Given the description of an element on the screen output the (x, y) to click on. 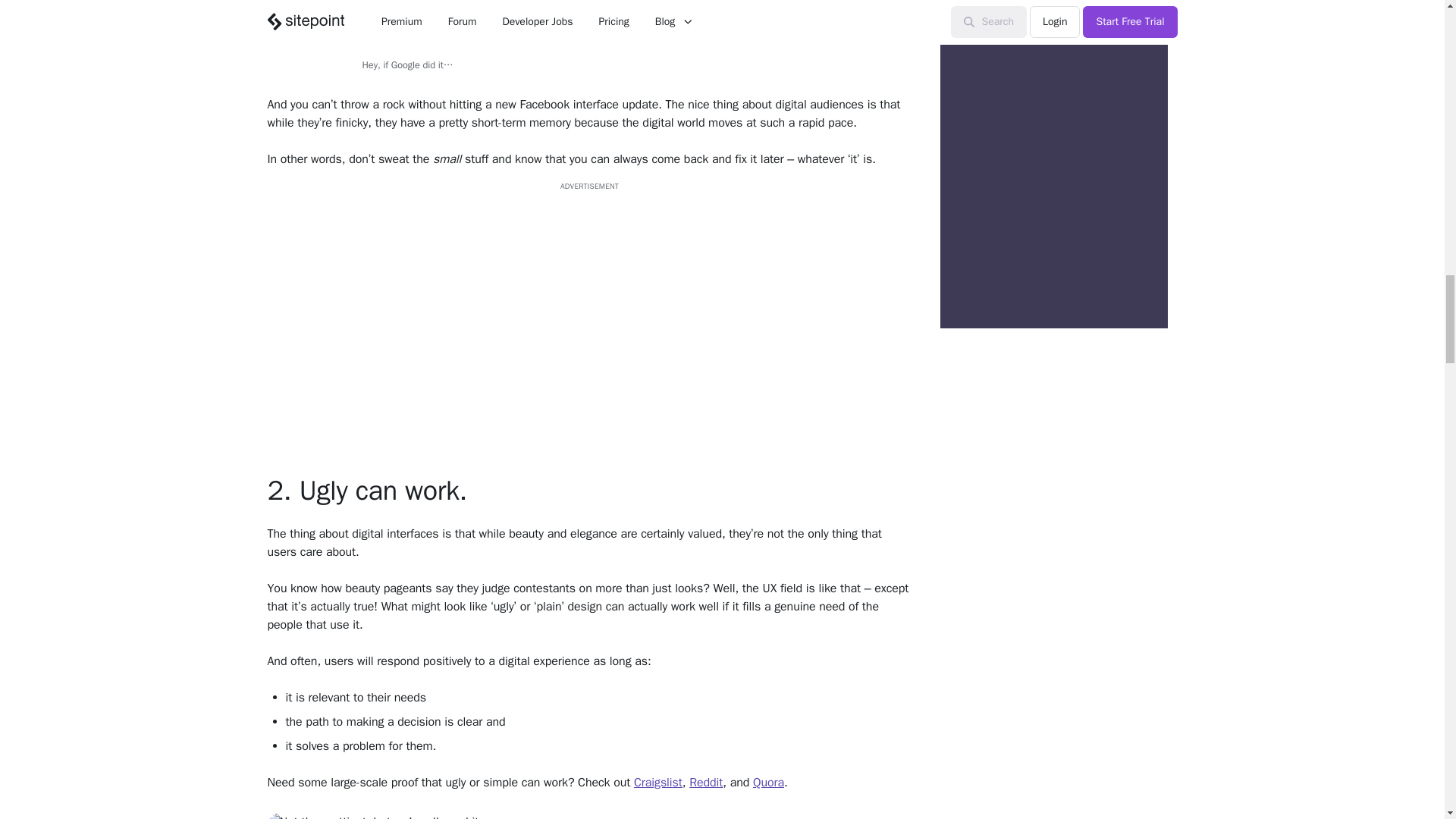
Reddit (705, 782)
Quora (768, 782)
Craigslist (657, 782)
